Given the description of an element on the screen output the (x, y) to click on. 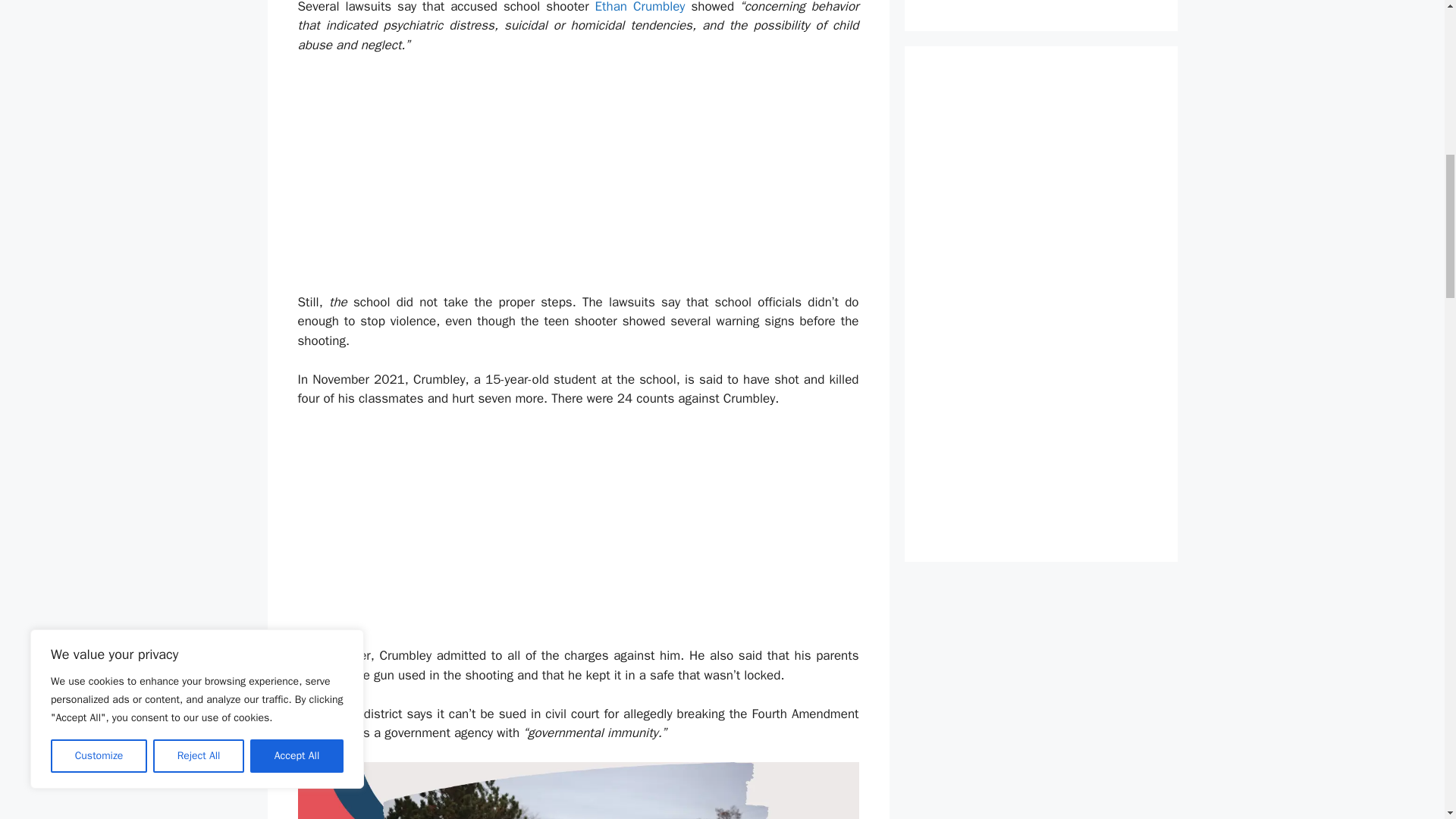
Ethan Crumbley (640, 7)
Scroll back to top (1406, 727)
